Given the description of an element on the screen output the (x, y) to click on. 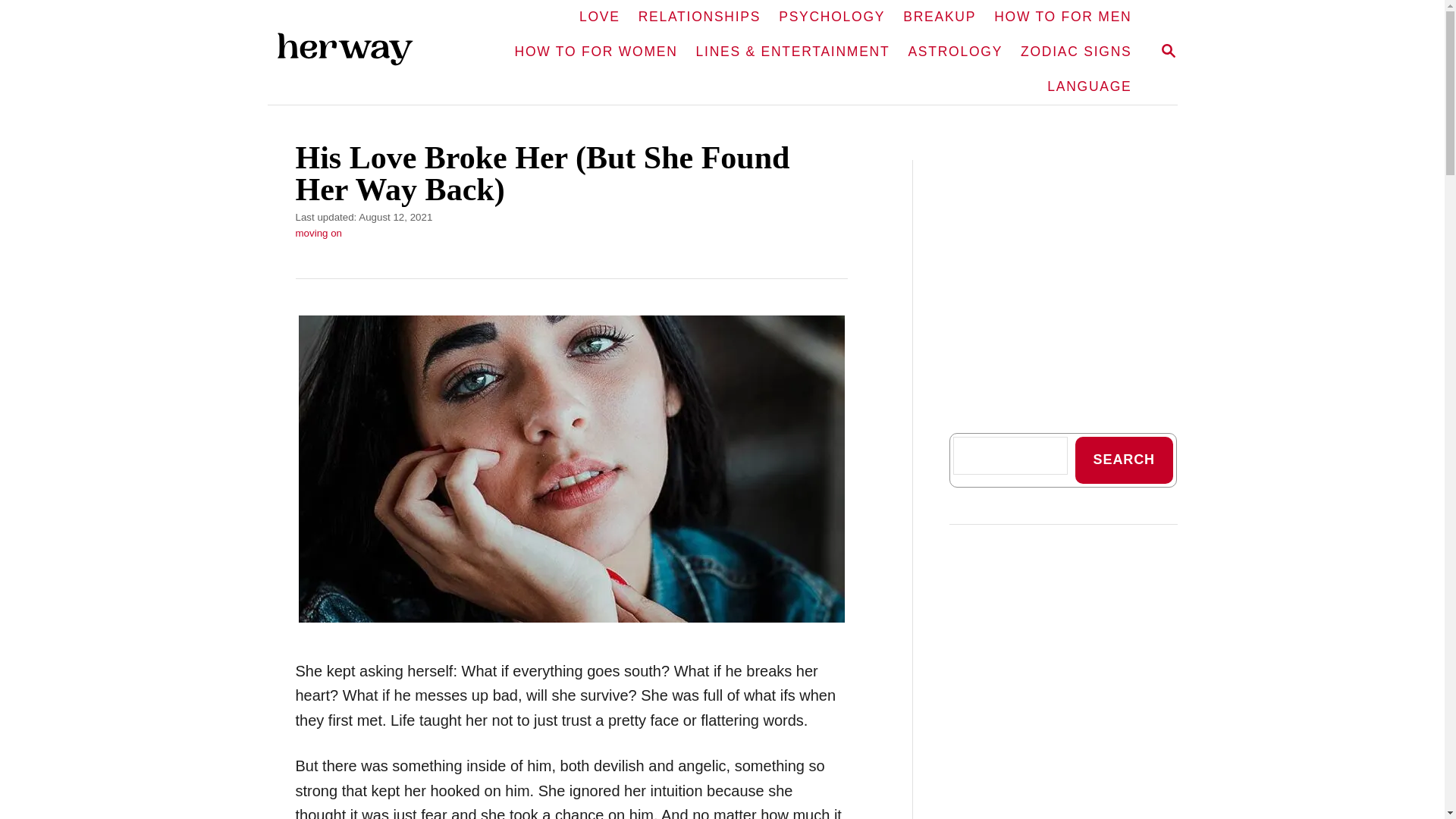
MAGNIFYING GLASS (1167, 50)
RELATIONSHIPS (699, 17)
Her Way (1167, 51)
LOVE (355, 52)
BREAKUP (599, 17)
HOW TO FOR WOMEN (939, 17)
PSYCHOLOGY (596, 52)
HOW TO FOR MEN (831, 17)
